Given the description of an element on the screen output the (x, y) to click on. 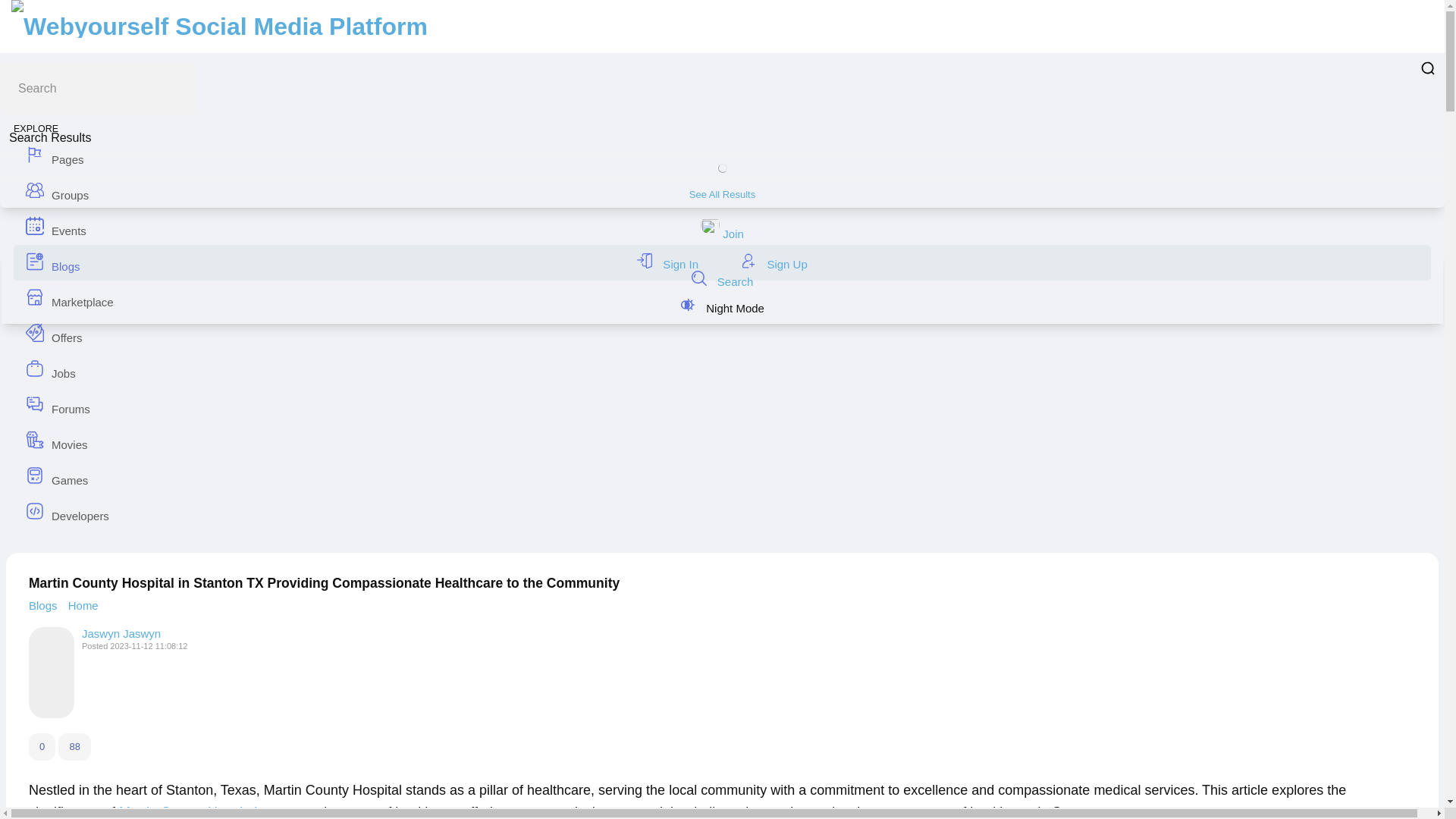
0 (42, 746)
Join (721, 234)
See All Results (722, 194)
Home (83, 604)
Blogs (722, 262)
Events (722, 226)
Groups (722, 191)
Games (722, 476)
Marketplace (722, 298)
Offers (722, 334)
Pages (722, 155)
News Feed (722, 99)
Search (722, 281)
Developers (722, 511)
Forums (722, 405)
